Given the description of an element on the screen output the (x, y) to click on. 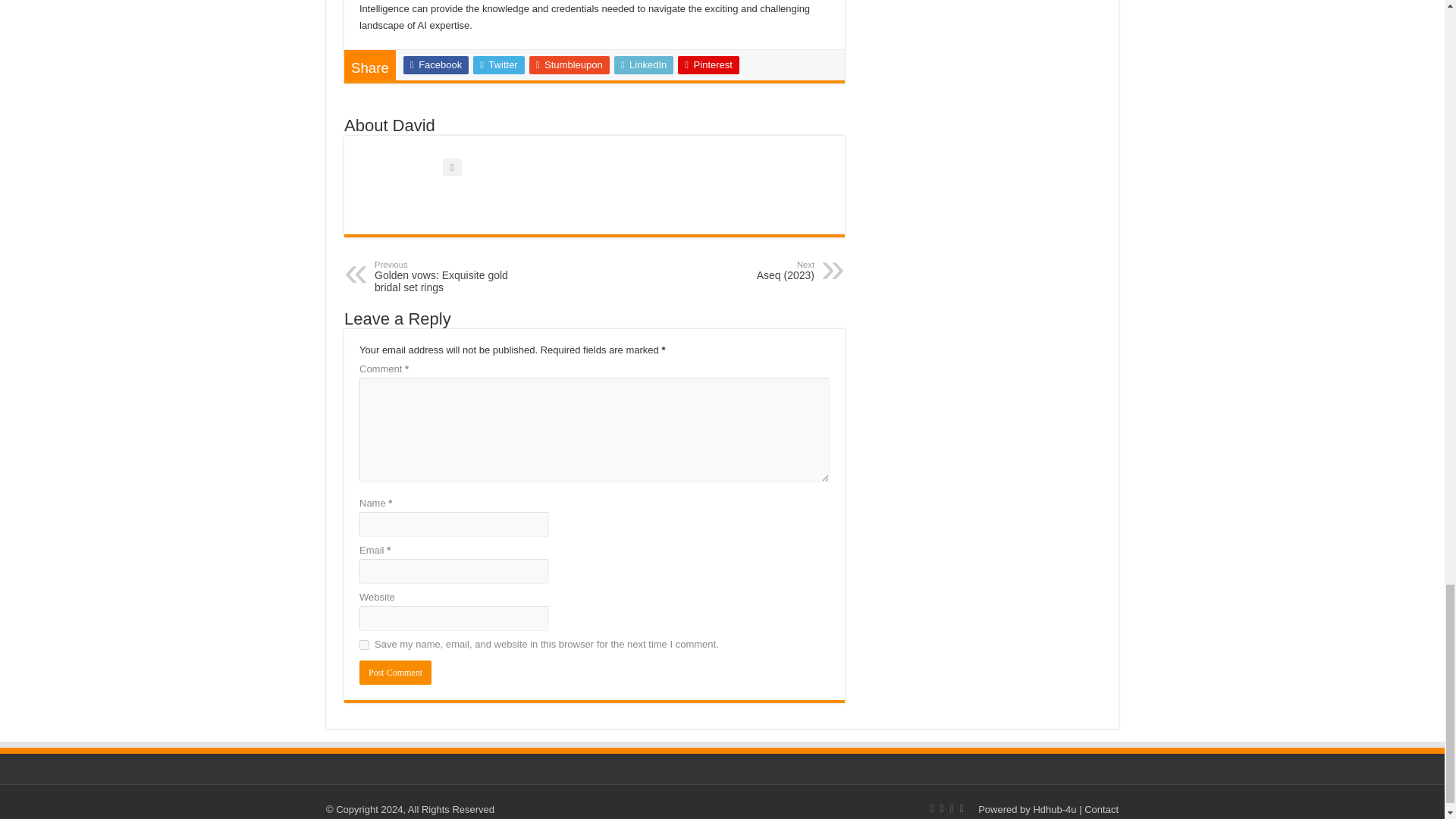
LinkedIn (644, 65)
Facebook (435, 65)
yes (364, 644)
Pinterest (708, 65)
Post Comment (451, 276)
Twitter (394, 672)
Stumbleupon (498, 65)
